Given the description of an element on the screen output the (x, y) to click on. 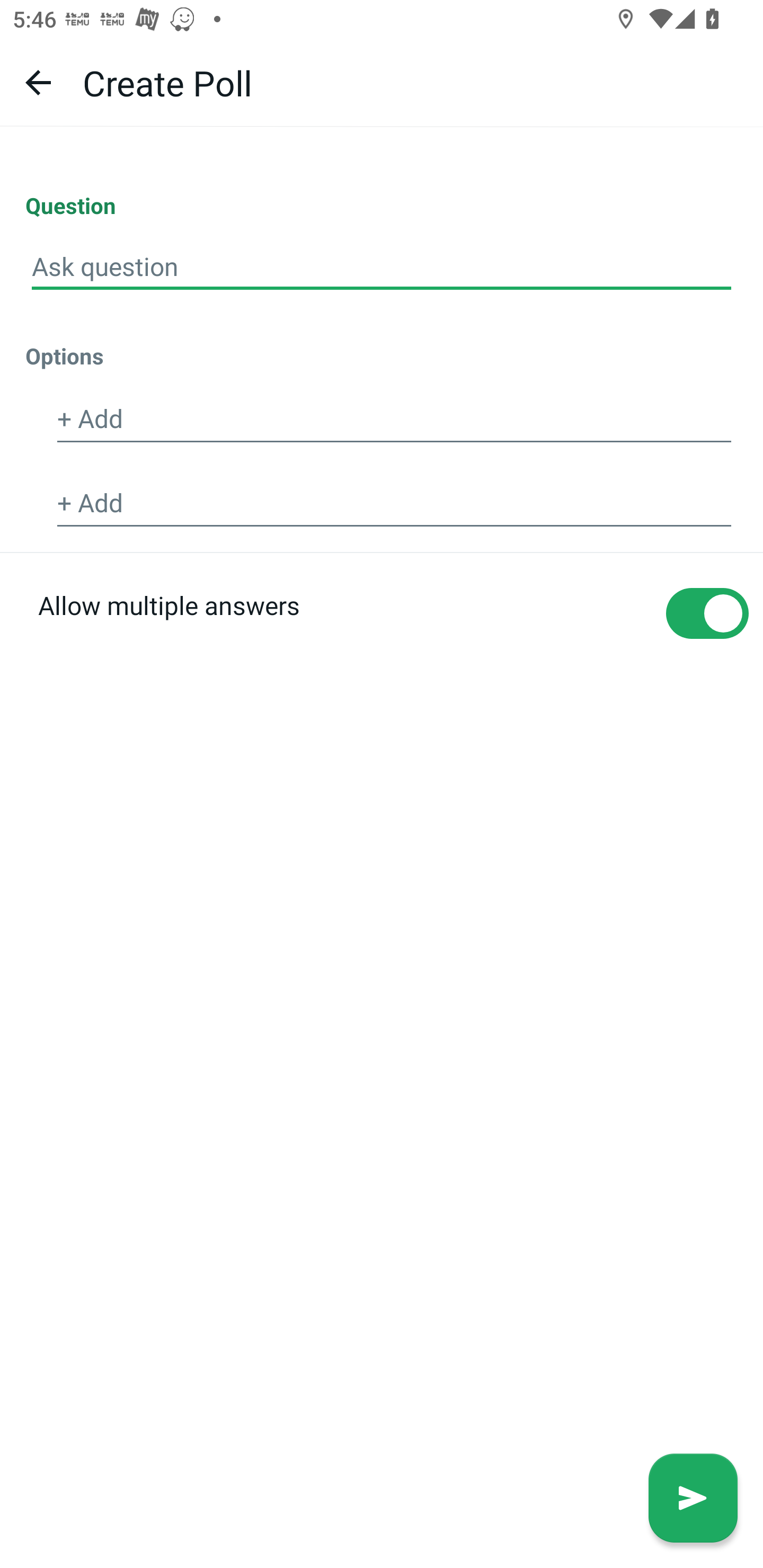
Navigate up (38, 82)
Ask question (381, 267)
+ Add (394, 419)
+ Add (394, 503)
Allow multiple answers (381, 644)
Send (692, 1497)
